Given the description of an element on the screen output the (x, y) to click on. 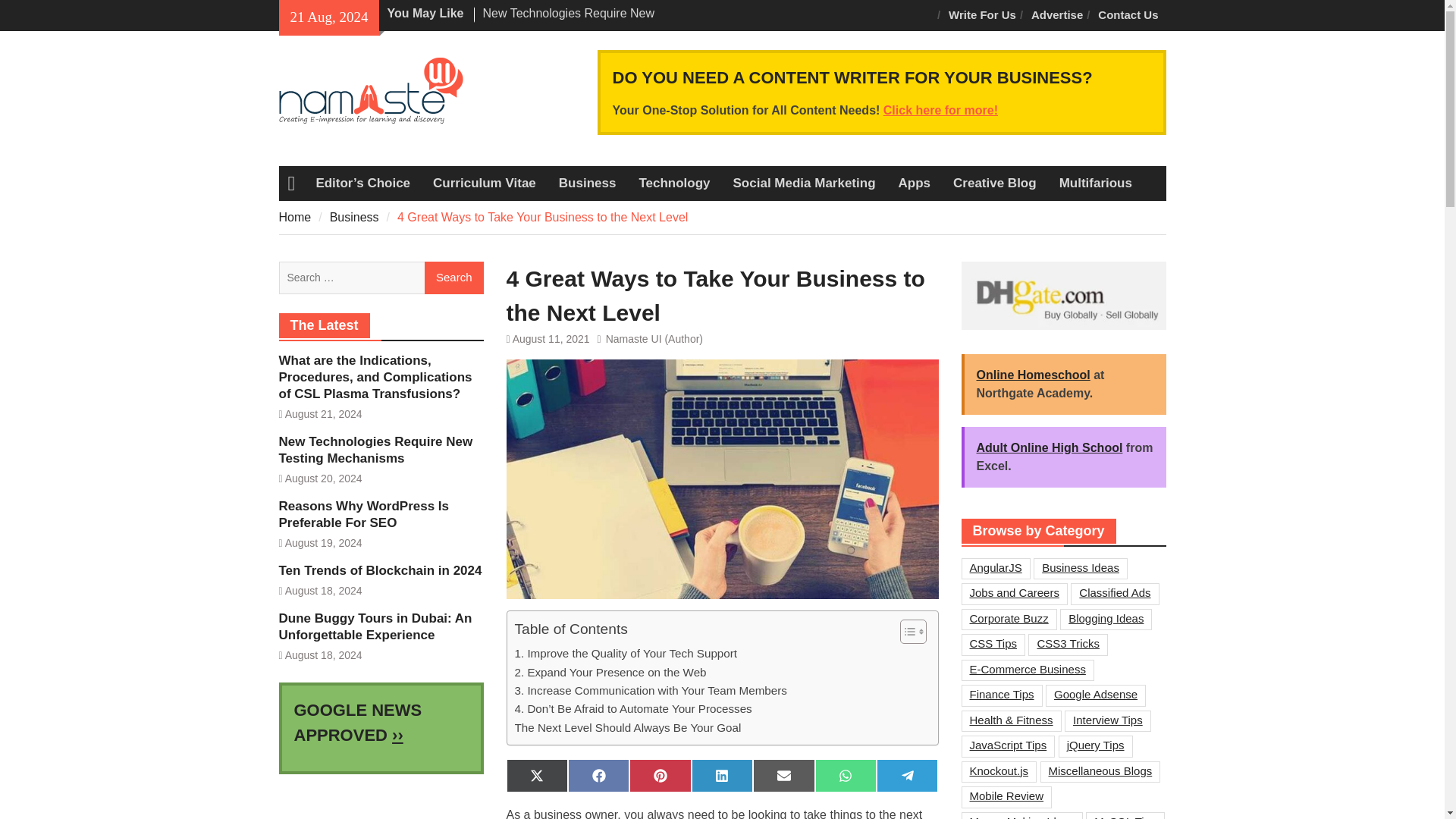
Write For Us (981, 15)
Contact Us (1128, 15)
Multifarious (1095, 183)
Write For Us (981, 15)
Curriculum Vitae (484, 183)
2. Expand Your Presence on the Web (609, 672)
Share on LinkedIn (721, 775)
August 11, 2021 (550, 337)
New Technologies Require New Testing Mechanisms (567, 21)
Business (587, 183)
